Given the description of an element on the screen output the (x, y) to click on. 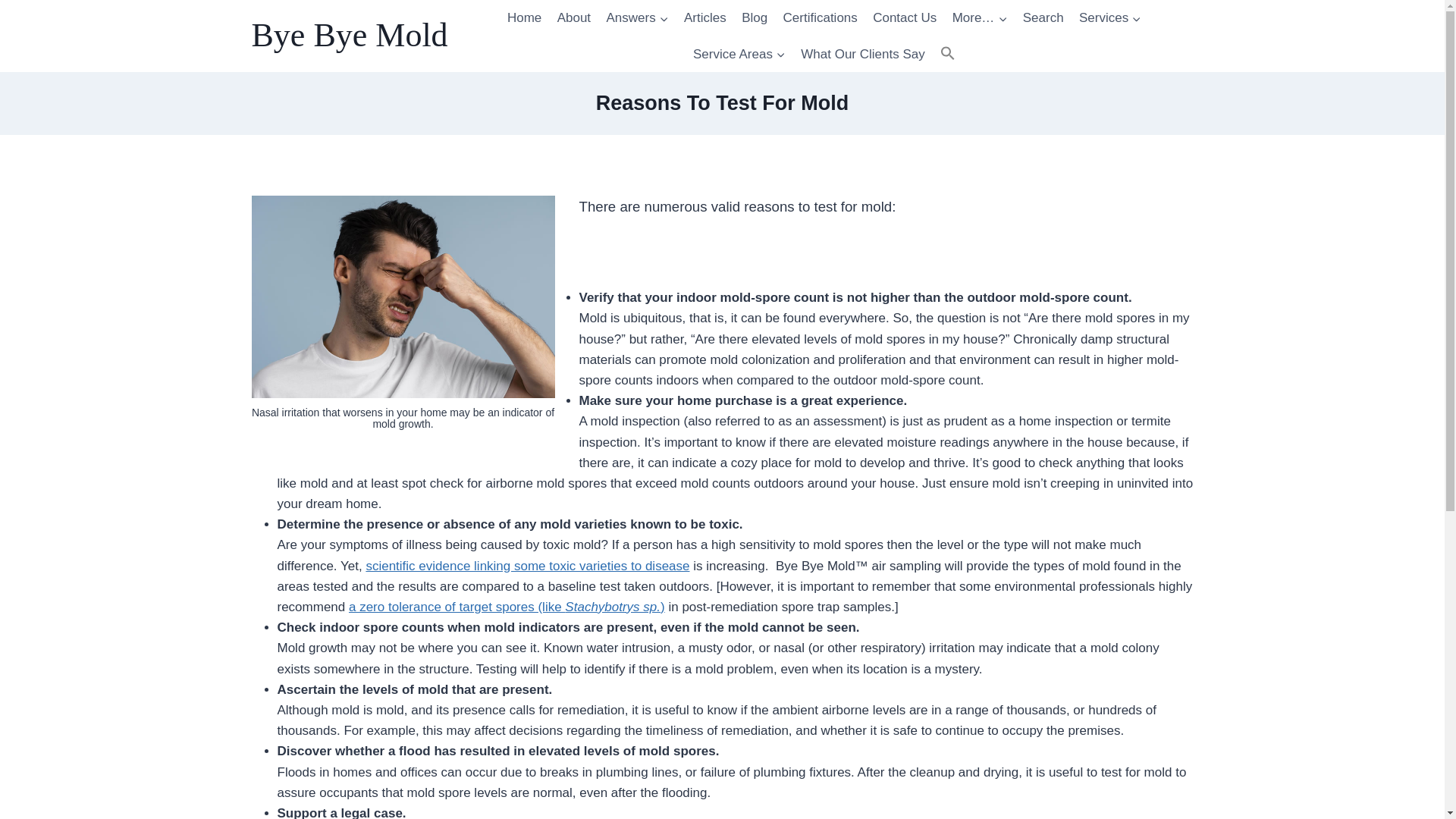
Certifications (819, 18)
Search (1042, 18)
About (573, 18)
Services (1110, 18)
Contact Us (903, 18)
Articles (705, 18)
Service Areas (739, 54)
Home (524, 18)
Blog (753, 18)
Answers (637, 18)
Bye Bye Mold (349, 35)
